Given the description of an element on the screen output the (x, y) to click on. 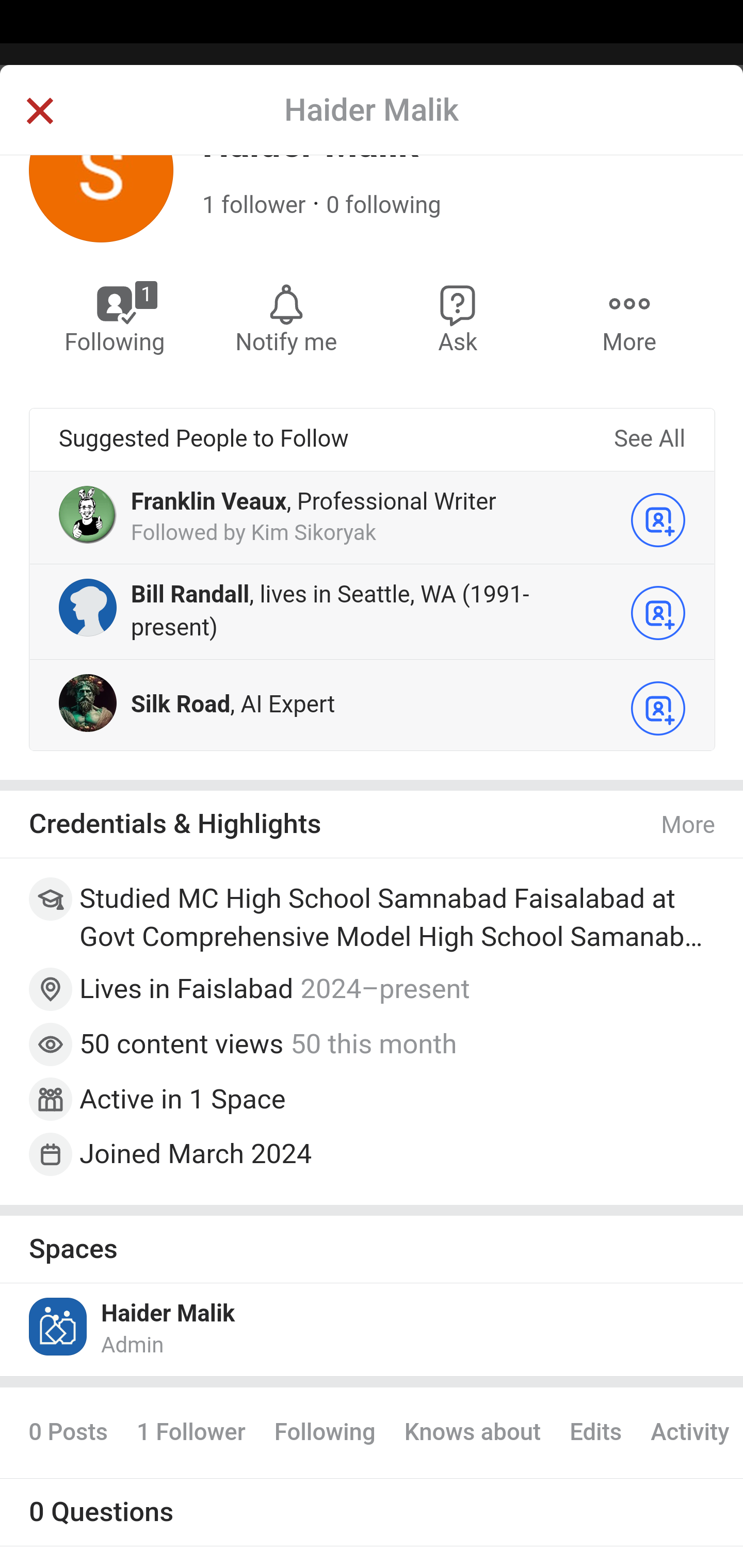
Back Answer (371, 125)
 (39, 112)
1 follower (254, 206)
0 following (383, 206)
Following Haider Malik 1 Following (115, 319)
Notify me (285, 319)
Ask (458, 319)
More (628, 319)
See All (649, 440)
Profile photo for Franklin Veaux (87, 515)
Franklin Veaux (208, 504)
Follow Franklin Veaux (658, 520)
Kim Sikoryak (312, 533)
Profile photo for Bill Randall (87, 608)
Bill Randall (190, 595)
Follow Bill Randall (658, 614)
Profile photo for Silk Road (87, 704)
Follow Silk Road (658, 710)
Silk Road (180, 705)
More (688, 827)
Icon for Haider Malik (58, 1327)
Haider Malik (168, 1316)
0 Posts (68, 1433)
1 Follower (190, 1433)
Following (324, 1433)
Knows about (471, 1433)
Edits (595, 1433)
Activity (689, 1433)
